Given the description of an element on the screen output the (x, y) to click on. 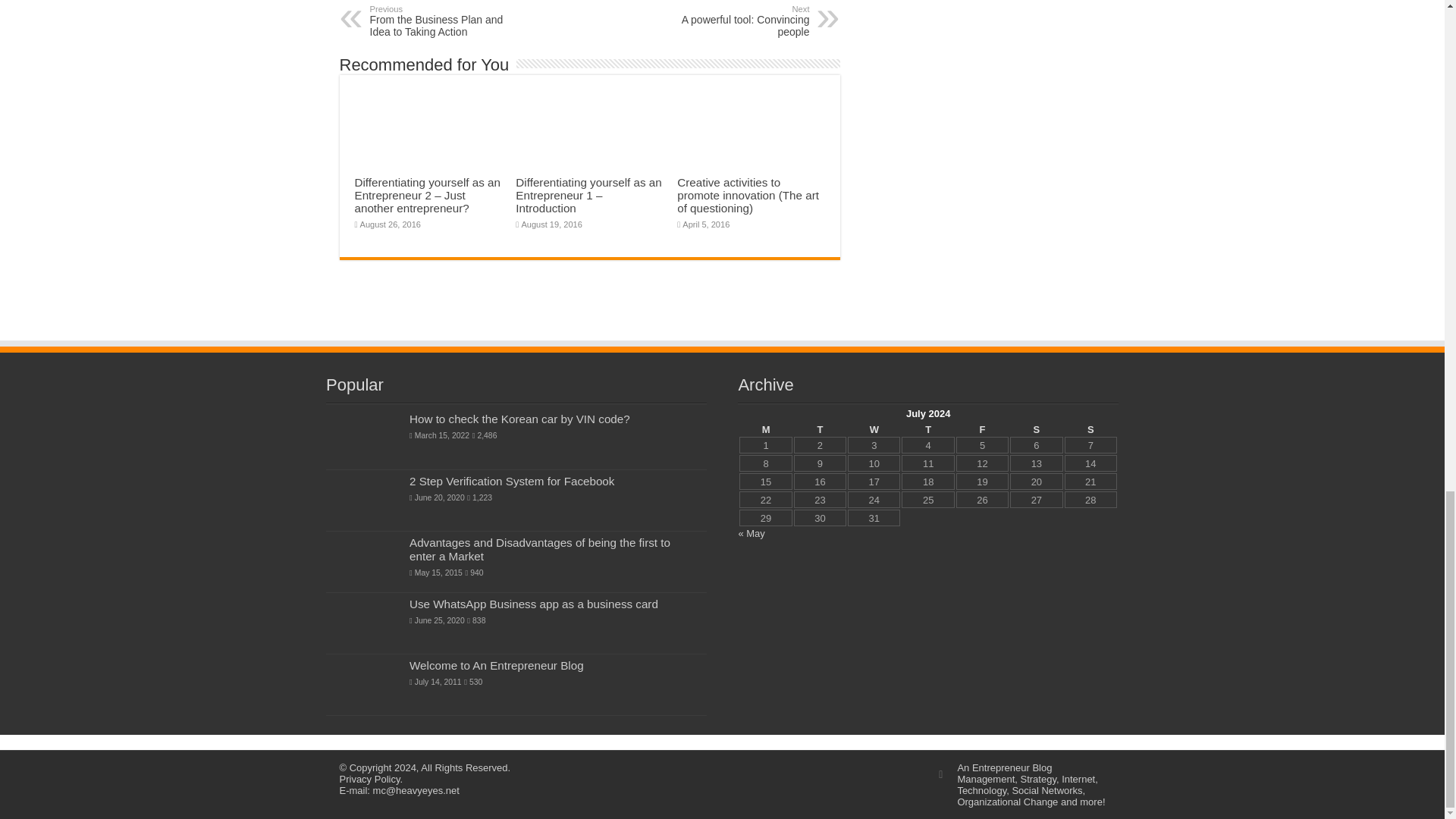
Tuesday (819, 429)
Monday (765, 429)
Wednesday (873, 429)
Friday (982, 429)
Thursday (927, 429)
